Given the description of an element on the screen output the (x, y) to click on. 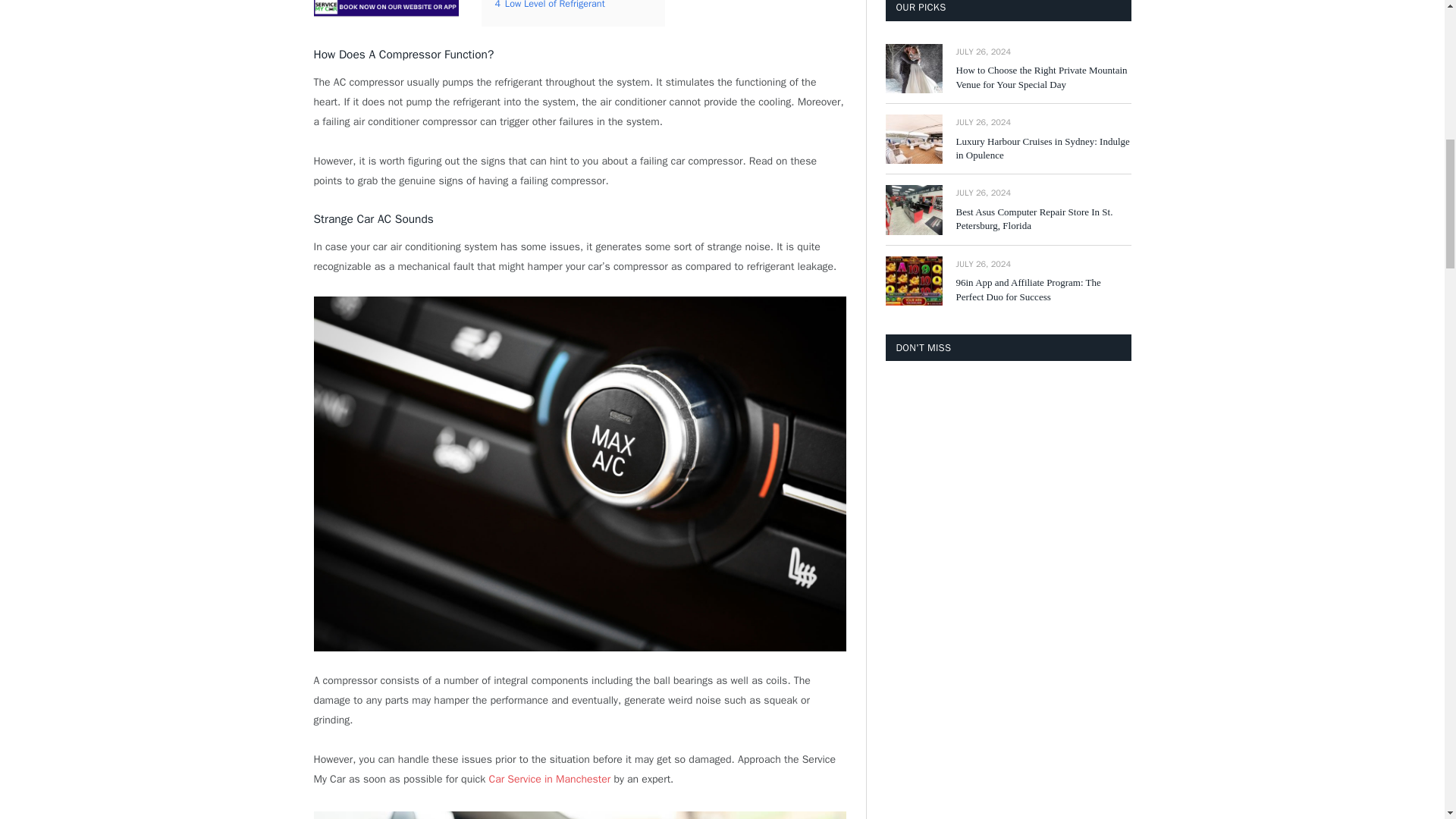
4 Low Level of Refrigerant (549, 4)
Car Service in Manchester (548, 779)
